Given the description of an element on the screen output the (x, y) to click on. 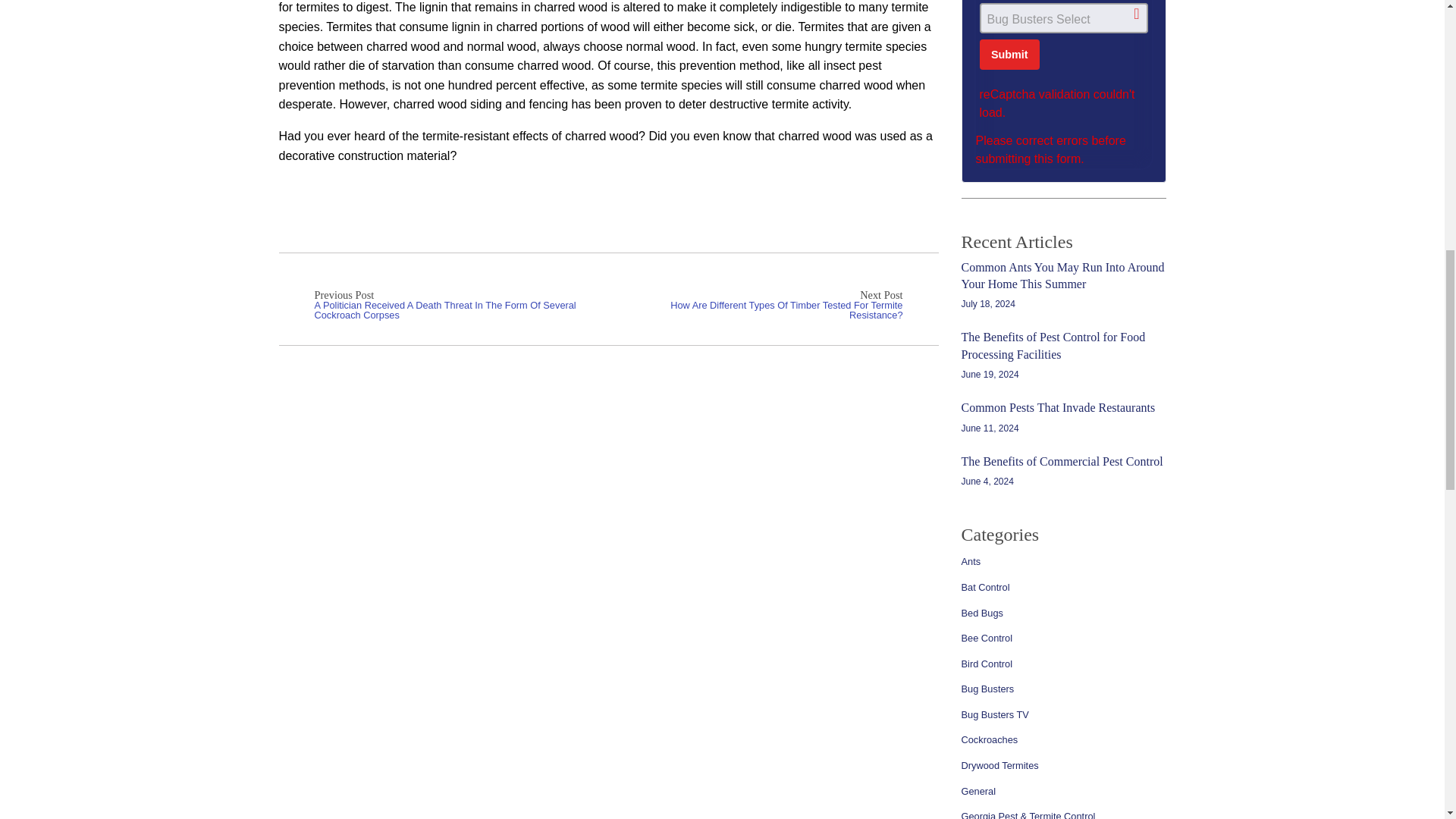
Submit (1010, 54)
